Given the description of an element on the screen output the (x, y) to click on. 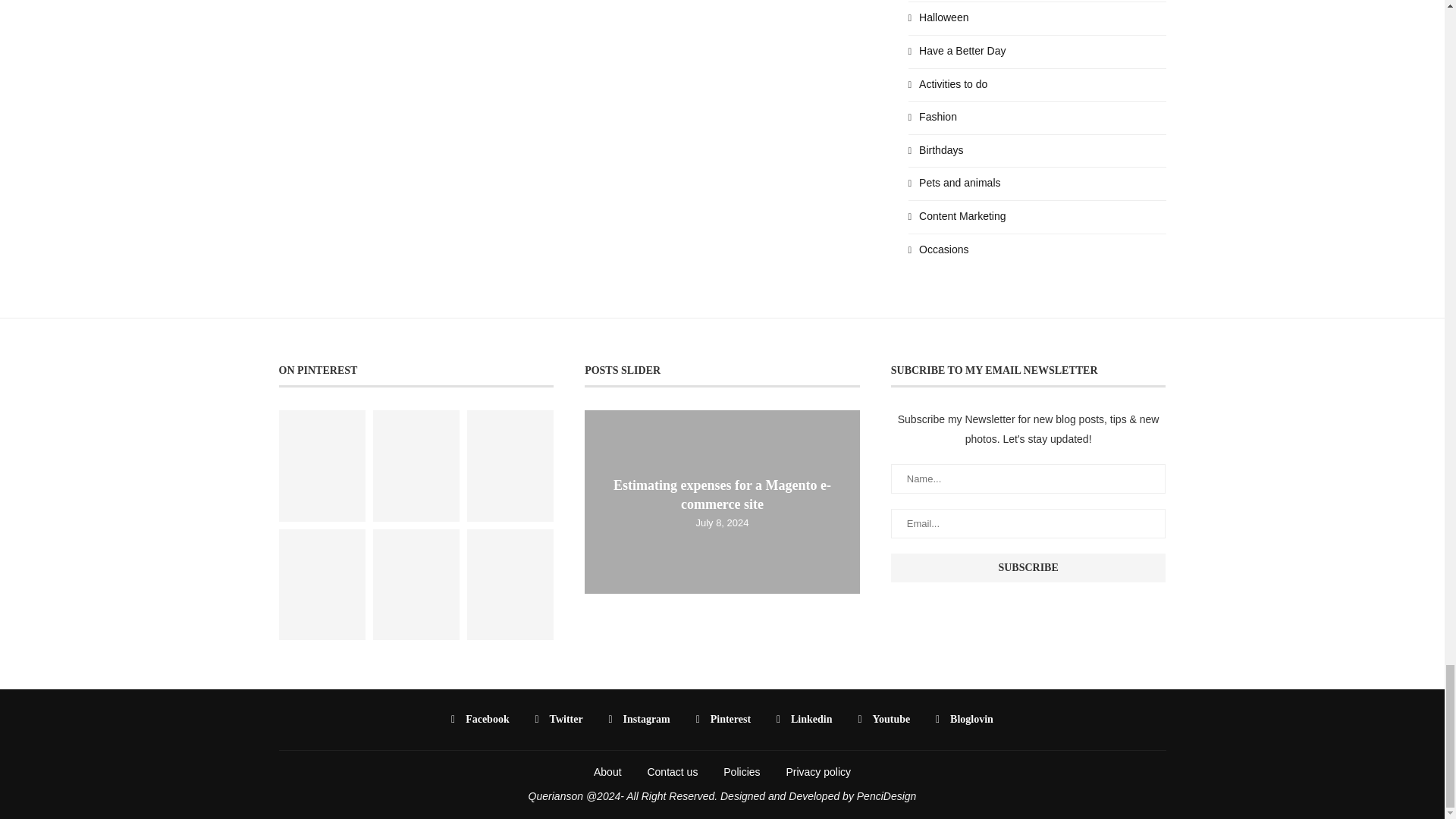
Subscribe (1028, 567)
